Given the description of an element on the screen output the (x, y) to click on. 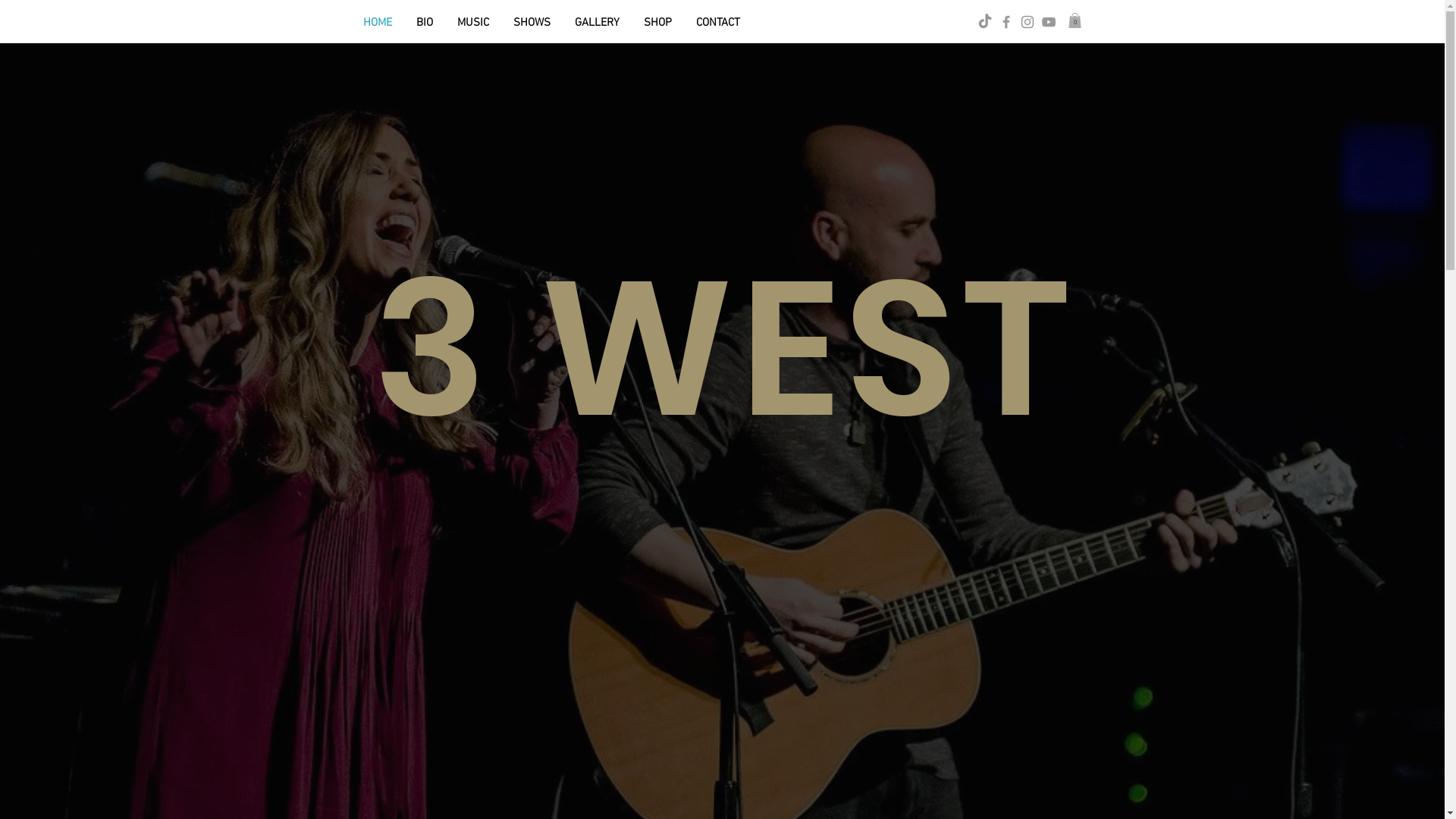
BIO Element type: text (423, 22)
MUSIC Element type: text (472, 22)
GALLERY Element type: text (596, 22)
0 Element type: text (1073, 20)
SHOP Element type: text (656, 22)
CONTACT Element type: text (718, 22)
3 WEST Element type: text (723, 348)
SHOWS Element type: text (530, 22)
HOME Element type: text (376, 22)
